Given the description of an element on the screen output the (x, y) to click on. 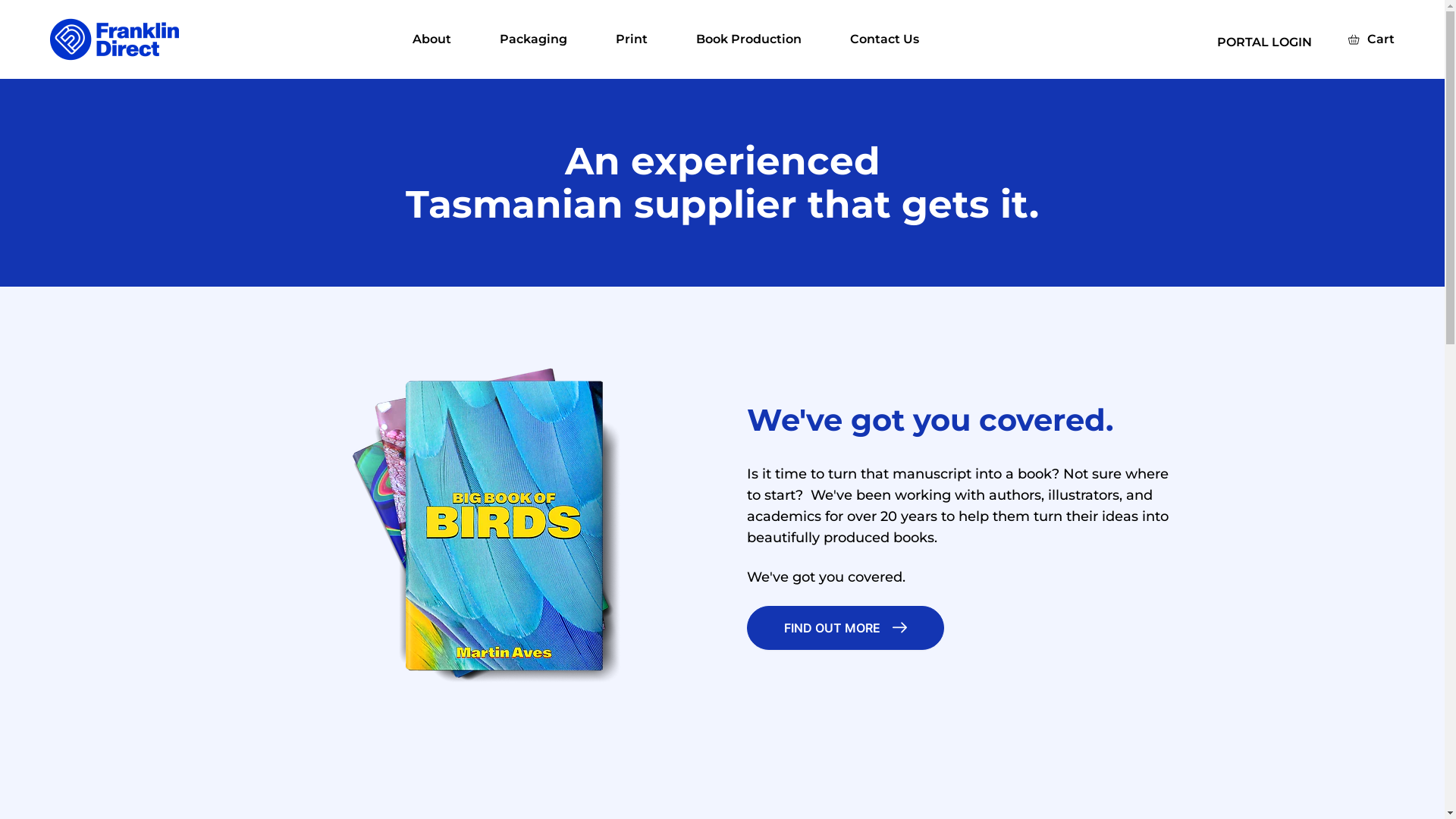
FIND OUT MORE Element type: text (844, 627)
About Element type: text (431, 39)
PORTAL LOGIN Element type: text (1264, 42)
Contact Us Element type: text (884, 39)
Print Element type: text (631, 39)
Packaging Element type: text (533, 39)
0
Cart Element type: text (1371, 39)
Book Production Element type: text (748, 39)
